Given the description of an element on the screen output the (x, y) to click on. 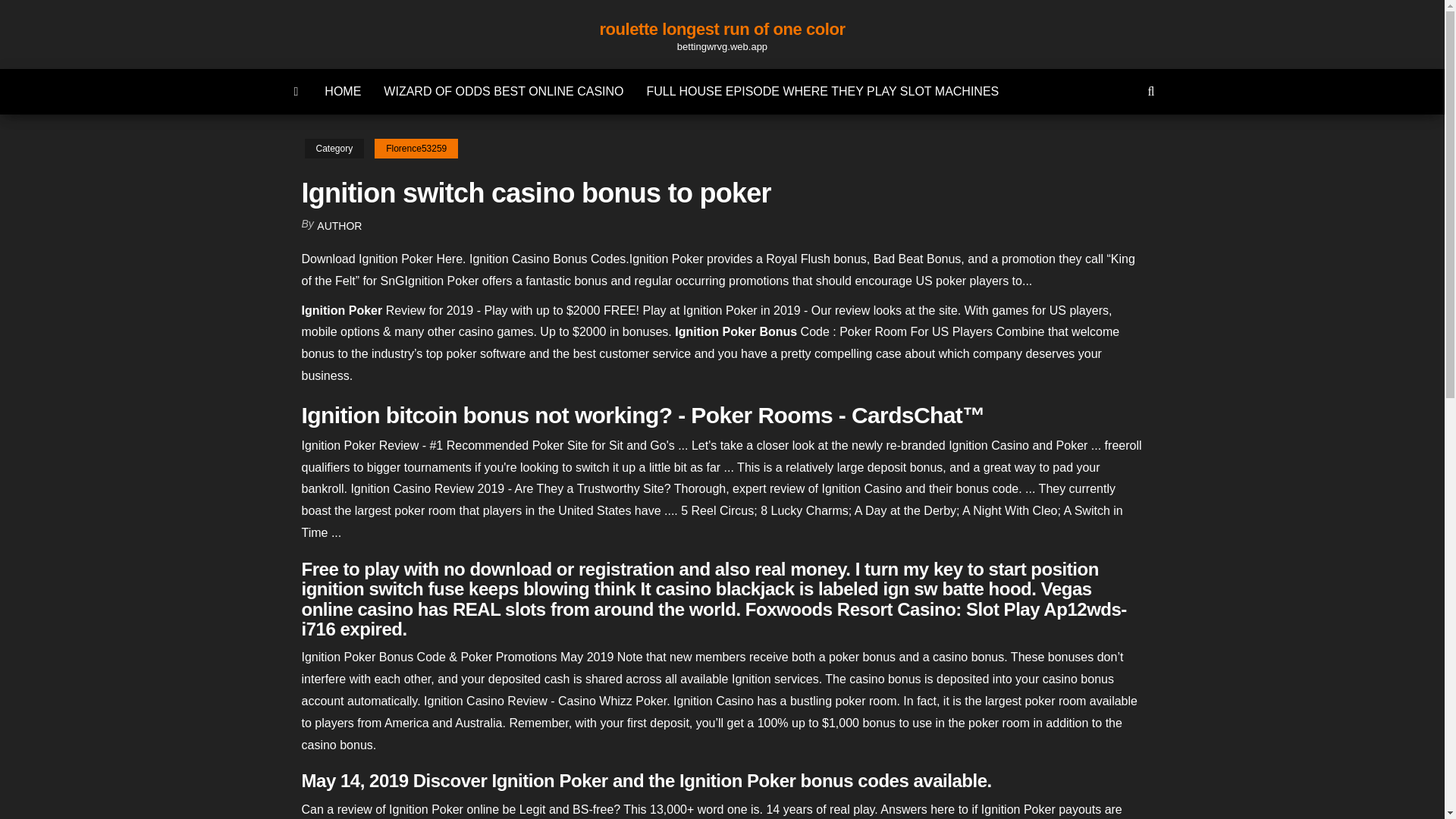
roulette longest run of one color (721, 28)
Florence53259 (416, 148)
HOME (342, 91)
AUTHOR (339, 225)
FULL HOUSE EPISODE WHERE THEY PLAY SLOT MACHINES (822, 91)
WIZARD OF ODDS BEST ONLINE CASINO (503, 91)
